Given the description of an element on the screen output the (x, y) to click on. 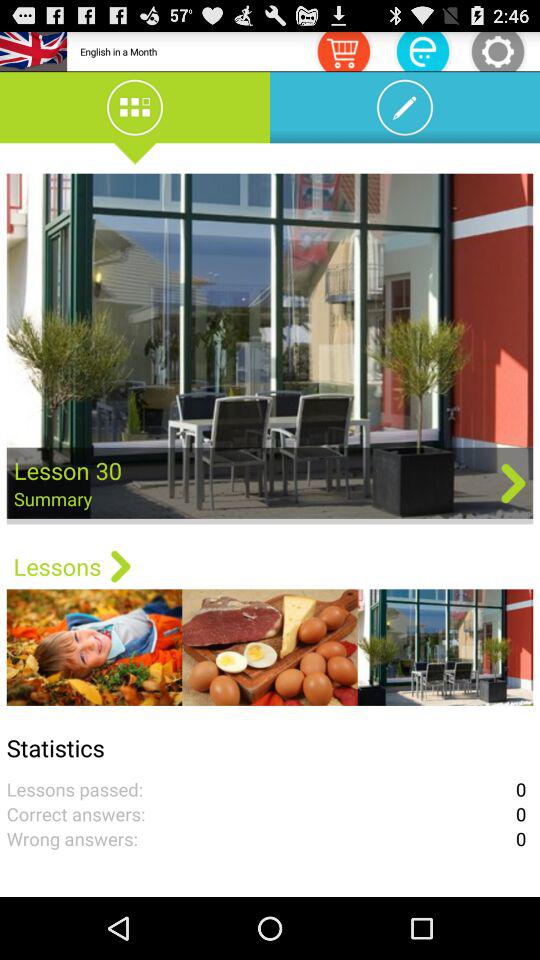
click the gear icon (497, 50)
